Given the description of an element on the screen output the (x, y) to click on. 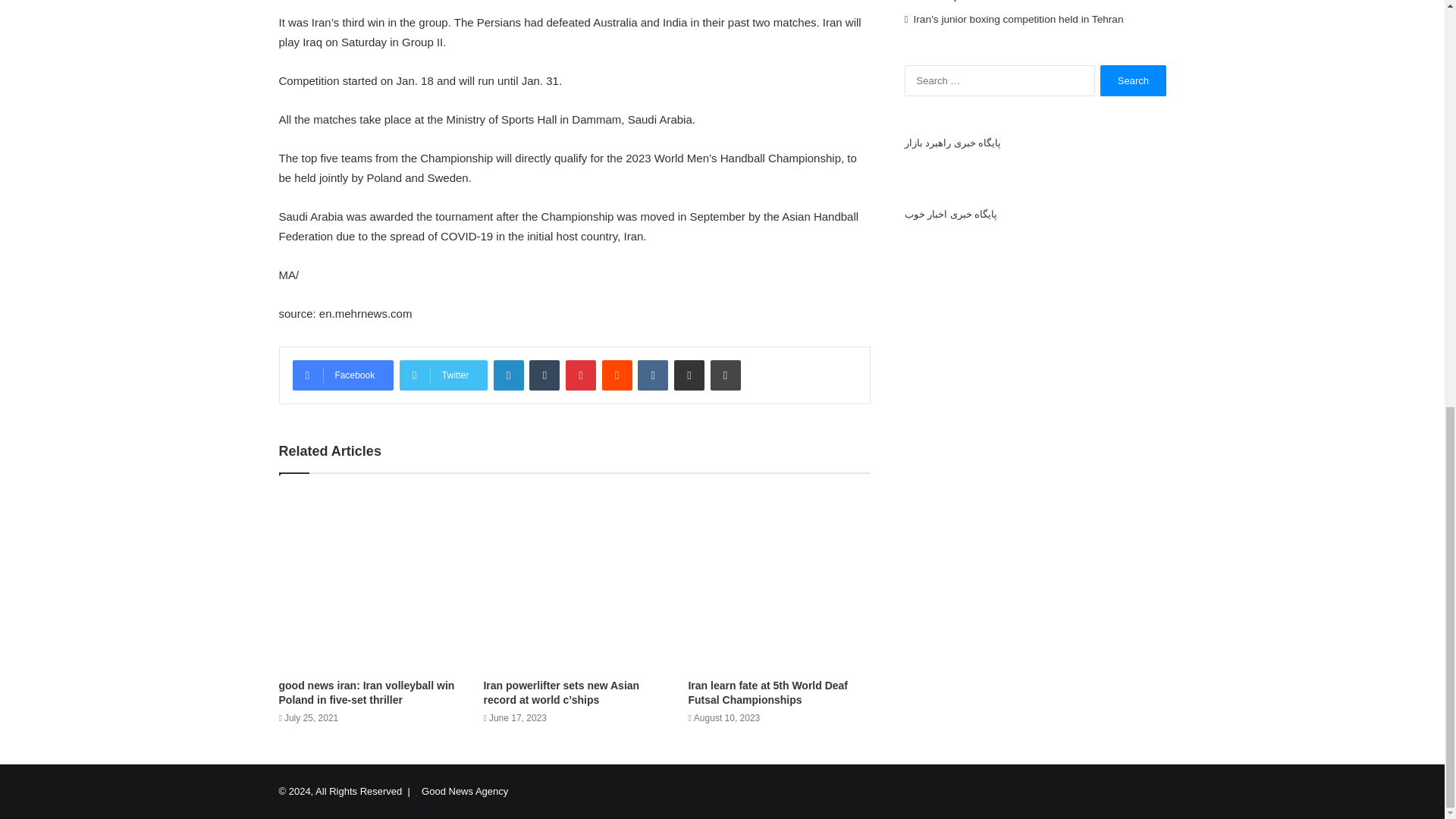
Print (725, 375)
Facebook (343, 375)
VKontakte (652, 375)
Reddit (616, 375)
Facebook (343, 375)
Iran learn fate at 5th World Deaf Futsal Championships (767, 692)
Share via Email (689, 375)
Pinterest (580, 375)
Search (1133, 80)
Print (725, 375)
Tumblr (544, 375)
Reddit (616, 375)
Twitter (442, 375)
Share via Email (689, 375)
Pinterest (580, 375)
